Given the description of an element on the screen output the (x, y) to click on. 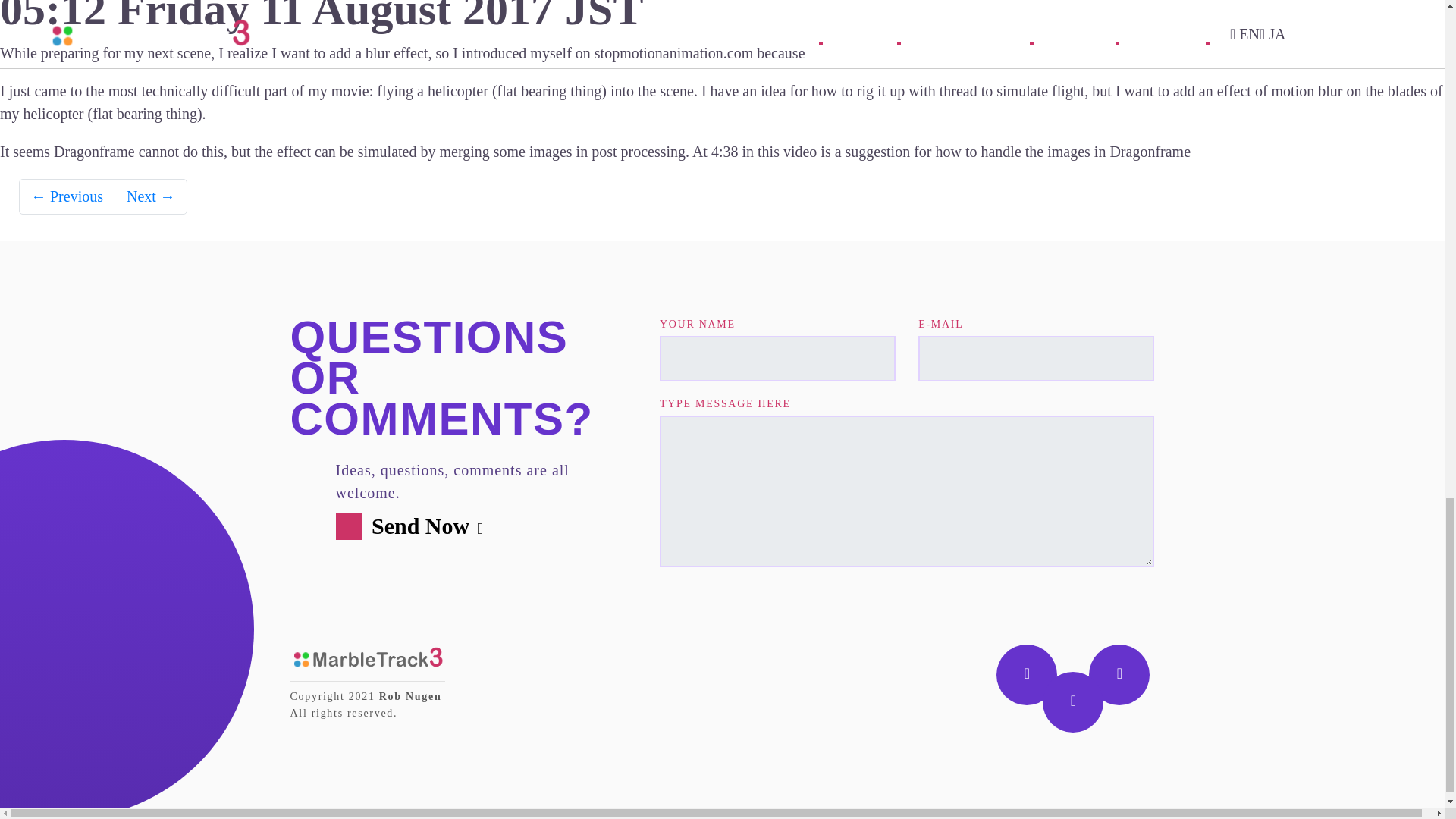
Rob Nugen (410, 696)
Send Now (415, 526)
introduced myself on stopmotionanimation.com (606, 53)
